Given the description of an element on the screen output the (x, y) to click on. 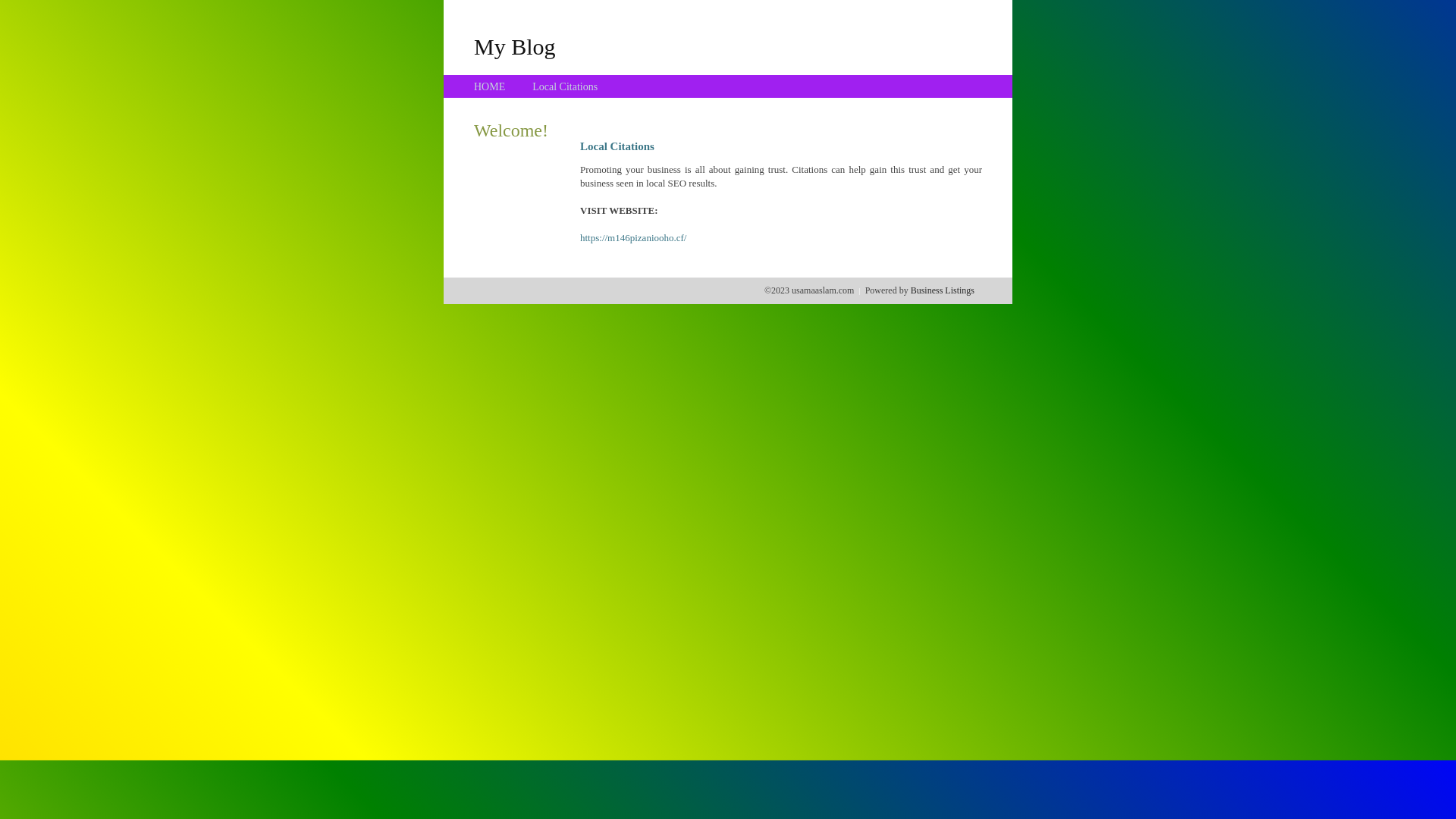
Business Listings Element type: text (942, 290)
HOME Element type: text (489, 86)
My Blog Element type: text (514, 46)
https://m146pizaniooho.cf/ Element type: text (633, 237)
Local Citations Element type: text (564, 86)
